Given the description of an element on the screen output the (x, y) to click on. 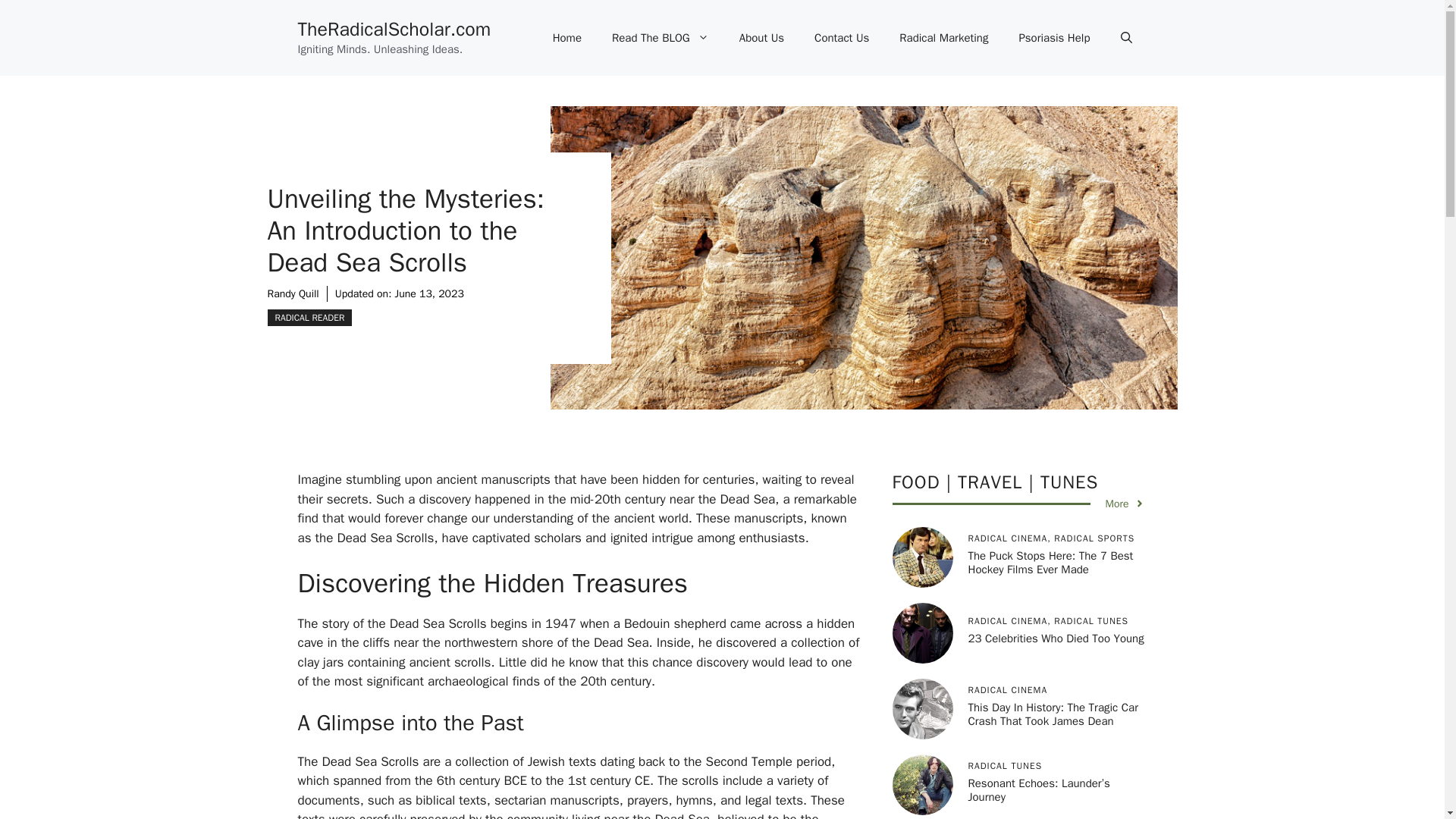
TheRadicalScholar.com (393, 28)
Psoriasis Help (1054, 37)
About Us (761, 37)
Radical Marketing (943, 37)
Home (566, 37)
Randy Quill (292, 292)
RADICAL READER (309, 317)
Contact Us (841, 37)
Read The BLOG (659, 37)
